Given the description of an element on the screen output the (x, y) to click on. 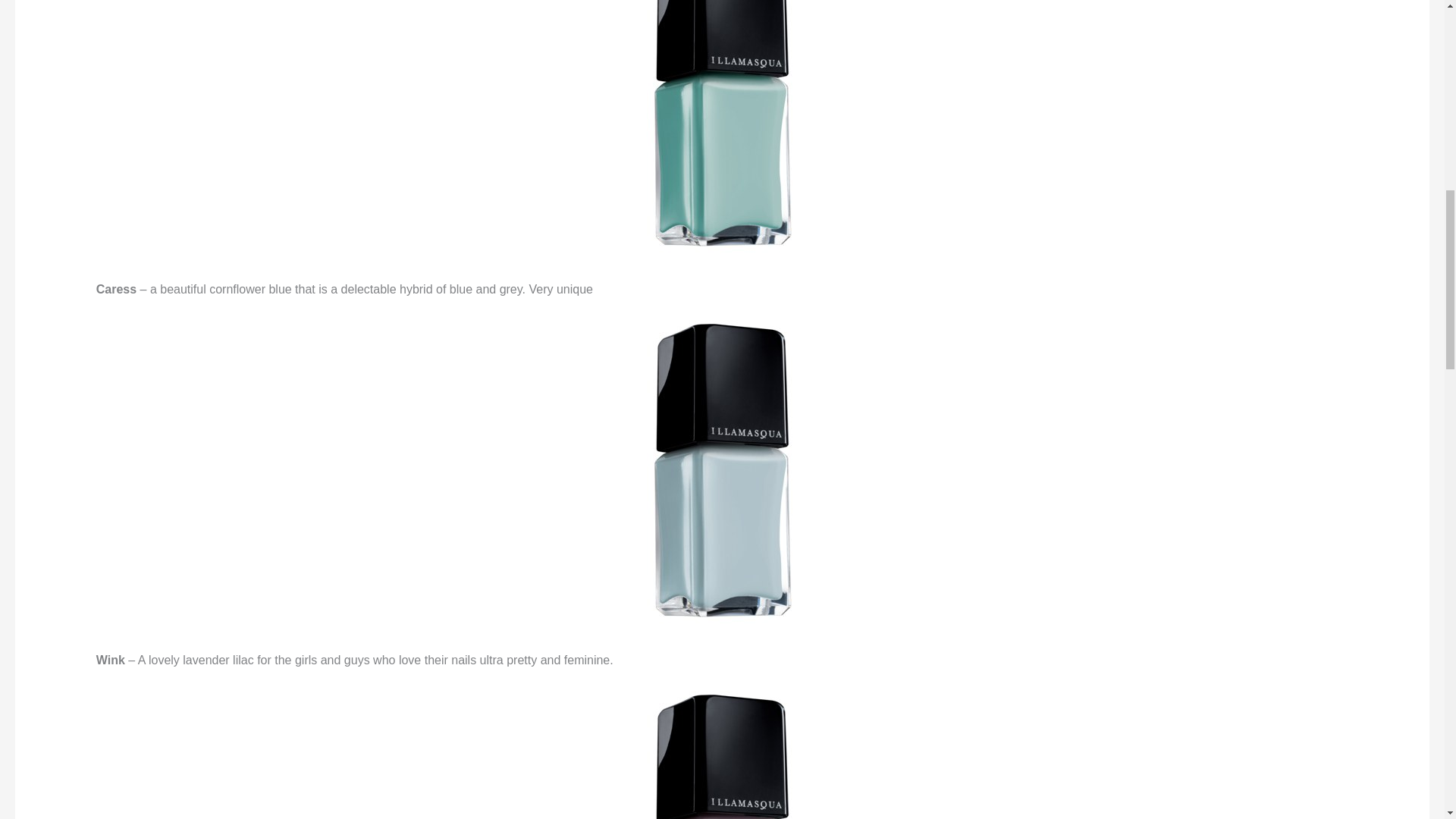
Illamasqua nail varnish  wink spring 2010 (721, 755)
